Given the description of an element on the screen output the (x, y) to click on. 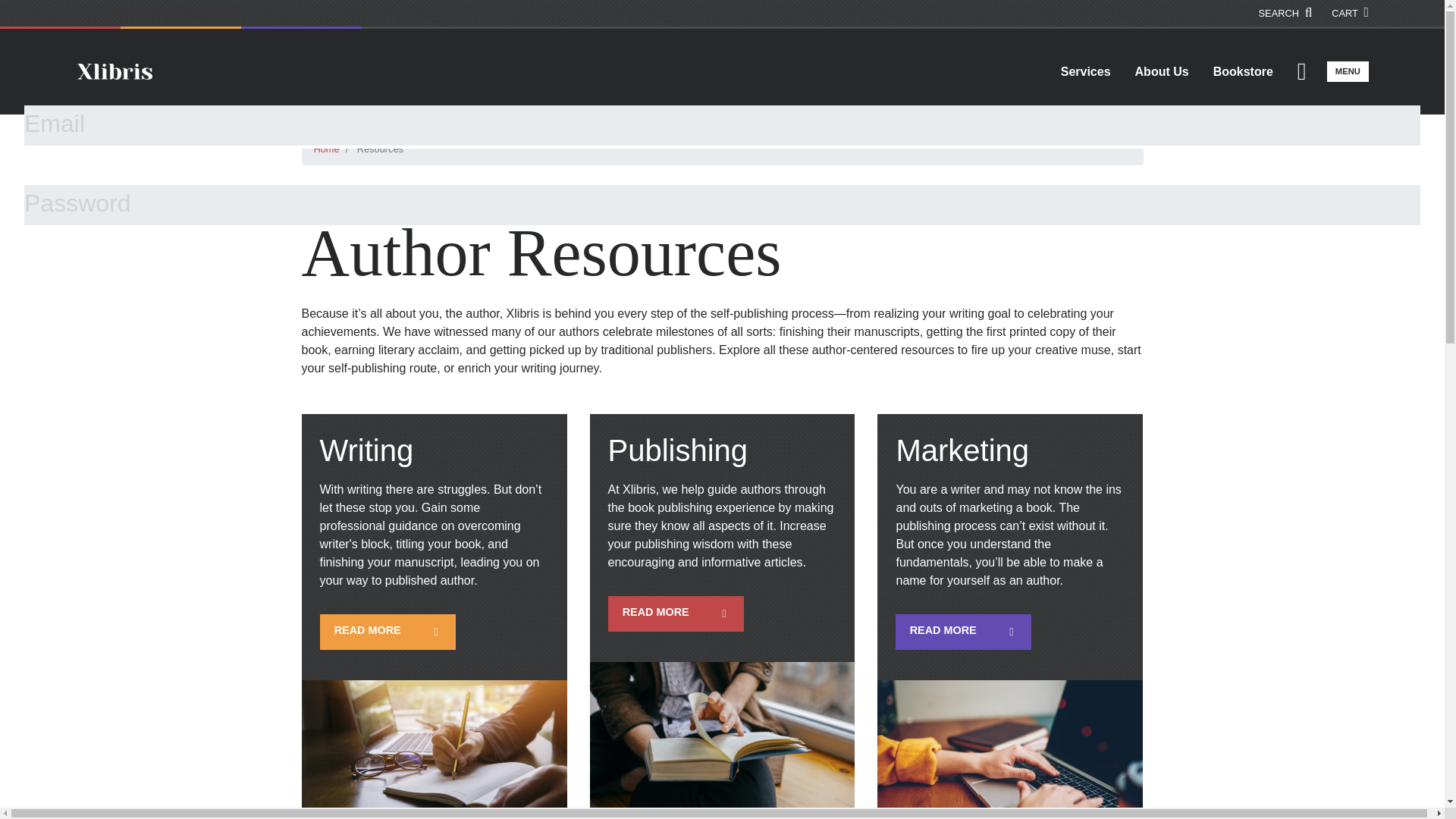
MENU (1347, 70)
Services (1085, 70)
CART (1350, 12)
Bookstore (1243, 70)
READ MORE (962, 632)
Home (326, 148)
About Us (1161, 70)
SEARCH (1286, 12)
READ MORE (387, 632)
READ MORE (676, 613)
